Given the description of an element on the screen output the (x, y) to click on. 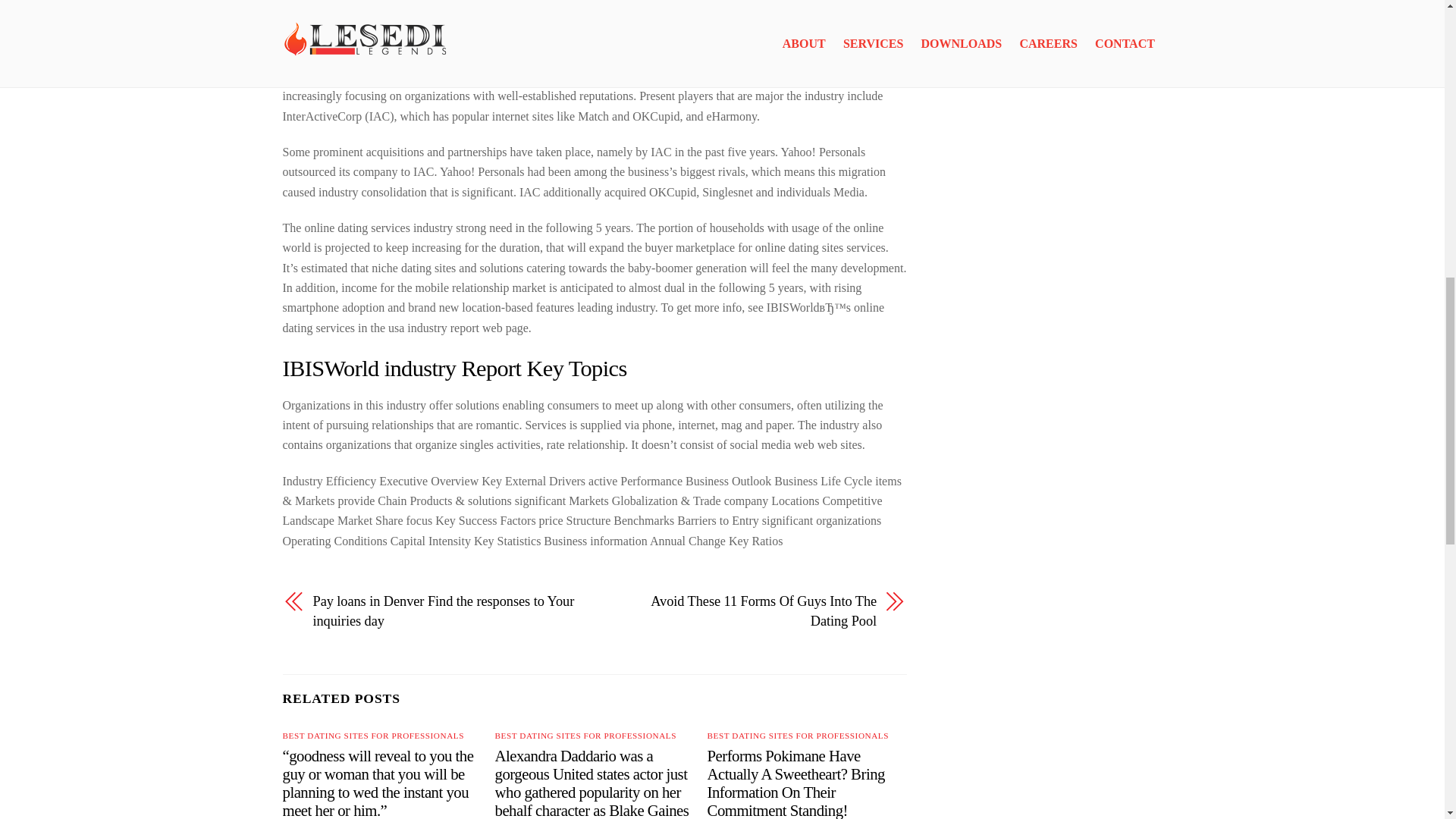
BEST DATING SITES FOR PROFESSIONALS (372, 735)
BEST DATING SITES FOR PROFESSIONALS (586, 735)
BEST DATING SITES FOR PROFESSIONALS (797, 735)
Pay loans in Denver Find the responses to Your inquiries day (444, 611)
Avoid These 11 Forms Of Guys Into The Dating Pool (744, 611)
